Given the description of an element on the screen output the (x, y) to click on. 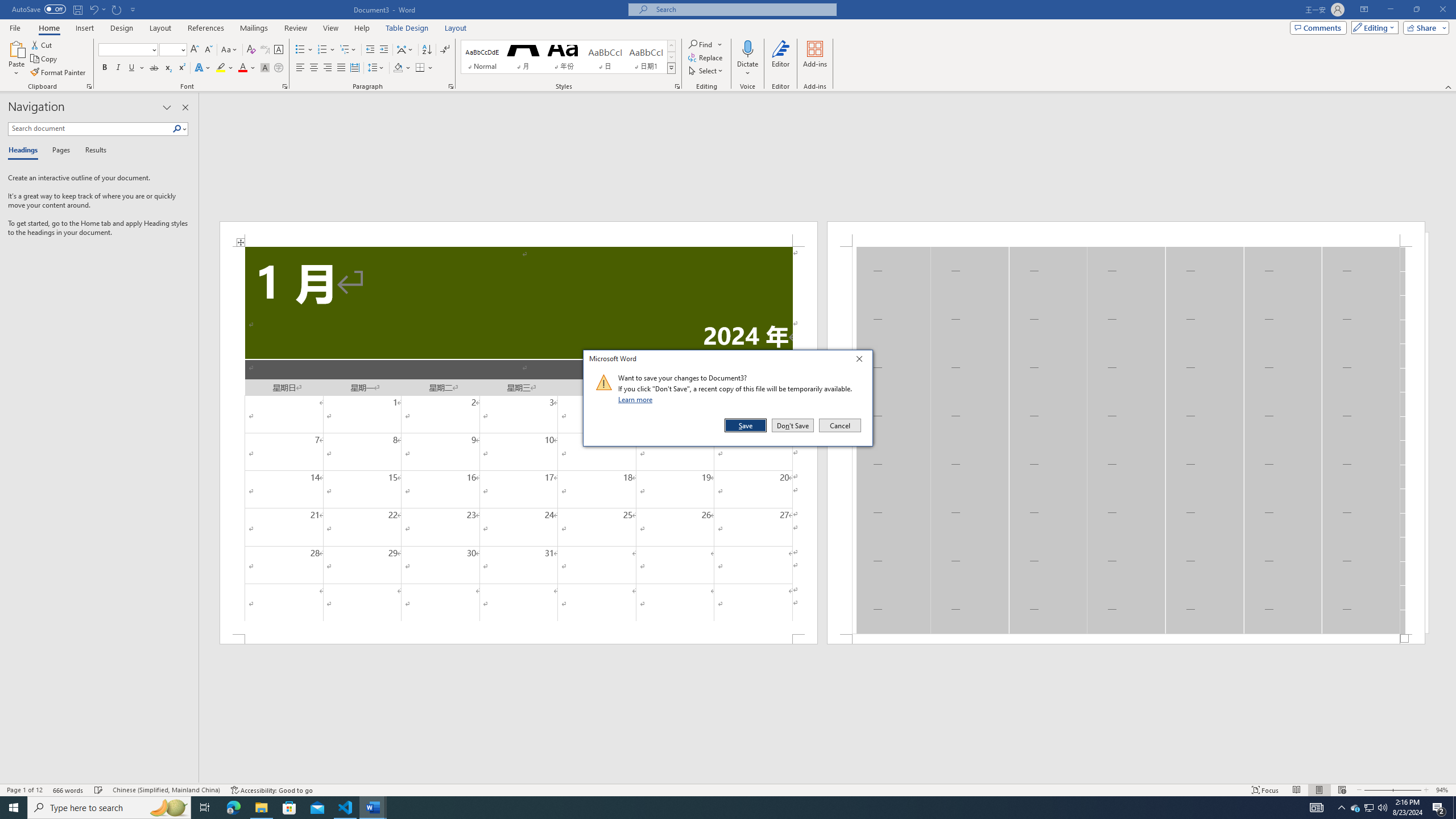
Learn more (636, 399)
Word - 2 running windows (373, 807)
Header -Section 1- (1126, 233)
